Given the description of an element on the screen output the (x, y) to click on. 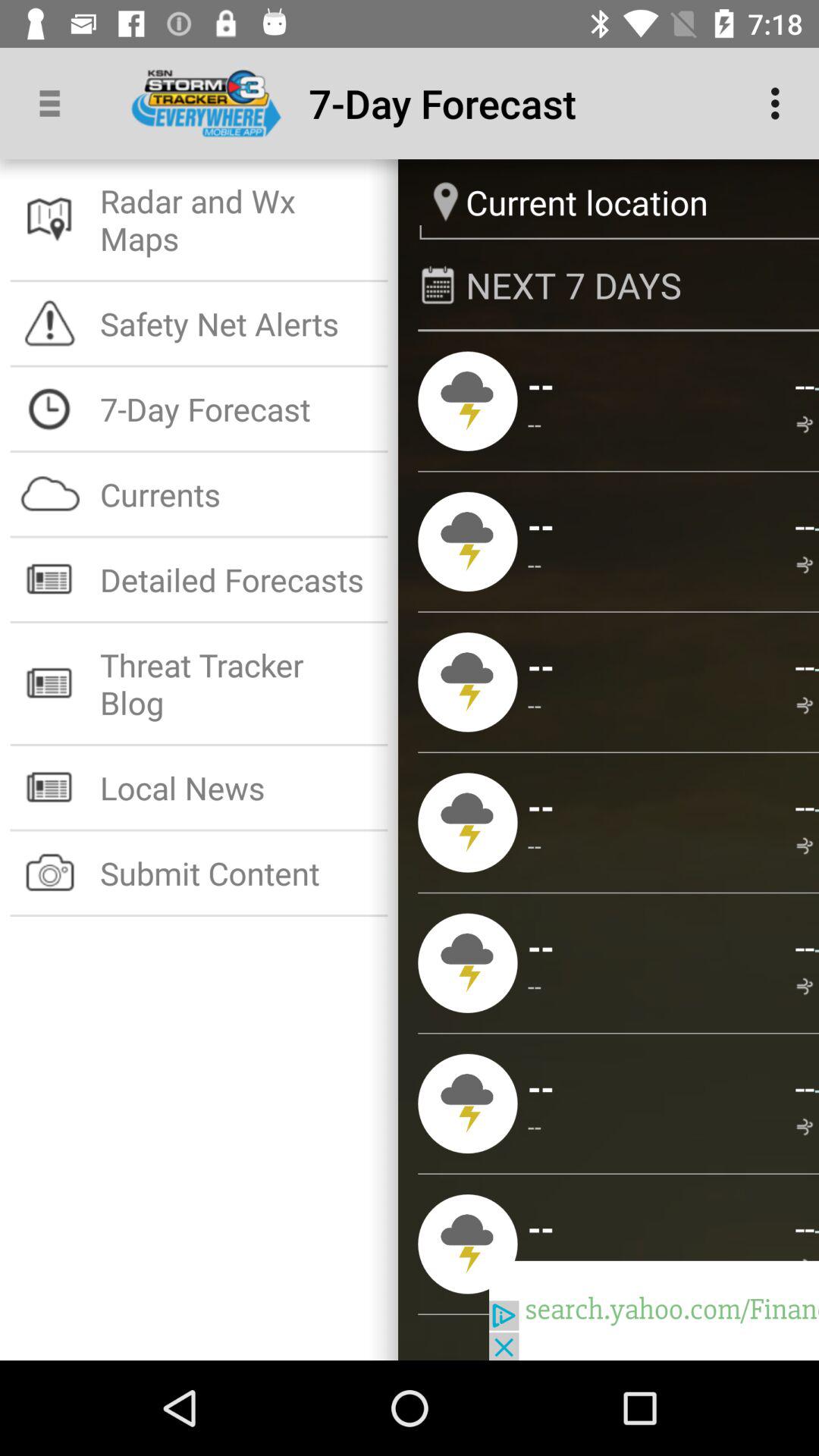
search (654, 1310)
